Given the description of an element on the screen output the (x, y) to click on. 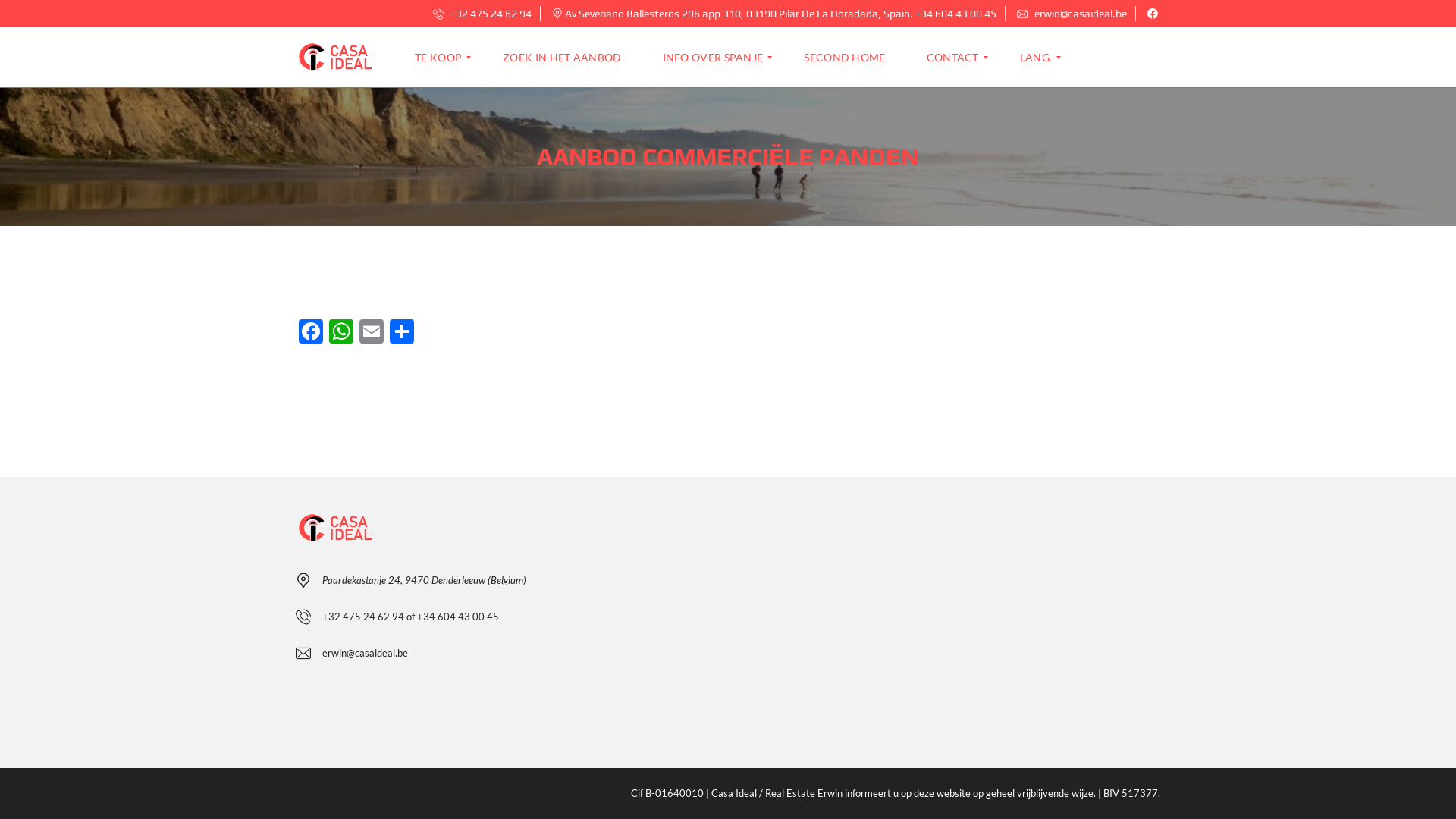
CONTACT Element type: text (952, 57)
erwin@casaideal.be Element type: text (1071, 13)
Vastgoed kopen in Spanje met Casa Ideal Element type: hover (336, 57)
Facebook Element type: text (310, 332)
WhatsApp Element type: text (341, 332)
erwin@casaideal.be Element type: text (364, 652)
Email Element type: text (371, 332)
ZOEK IN HET AANBOD Element type: text (561, 57)
LANG. Element type: text (1036, 57)
BIV 517377 Element type: text (1130, 793)
INFO OVER SPANJE Element type: text (712, 57)
TE KOOP Element type: text (444, 57)
+32 475 24 62 94 of +34 604 43 00 45 Element type: text (410, 615)
Delen Element type: text (401, 332)
SECOND HOME Element type: text (843, 57)
+32 475 24 62 94 Element type: text (482, 13)
